Given the description of an element on the screen output the (x, y) to click on. 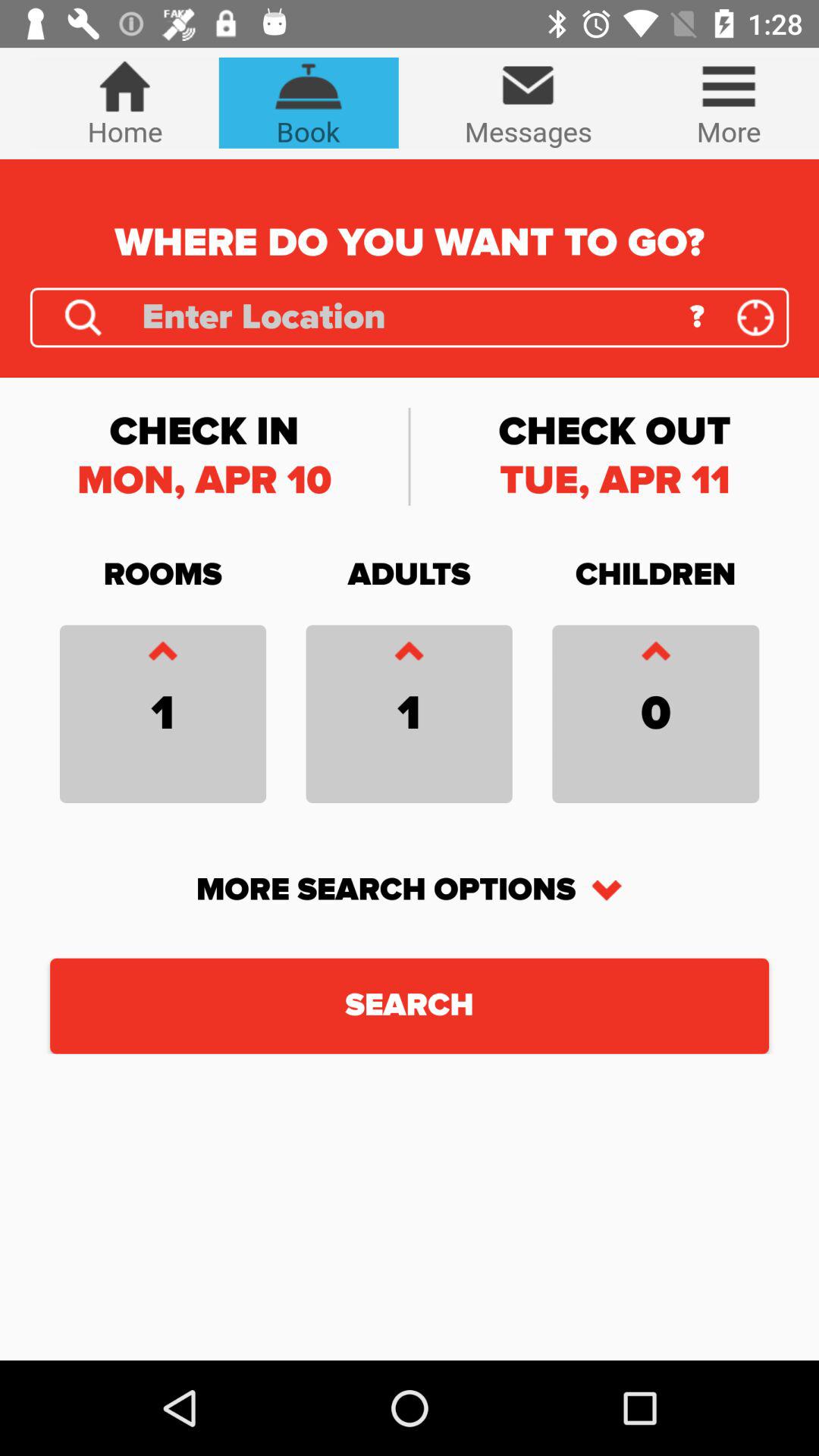
press icon above the where do you item (308, 102)
